Given the description of an element on the screen output the (x, y) to click on. 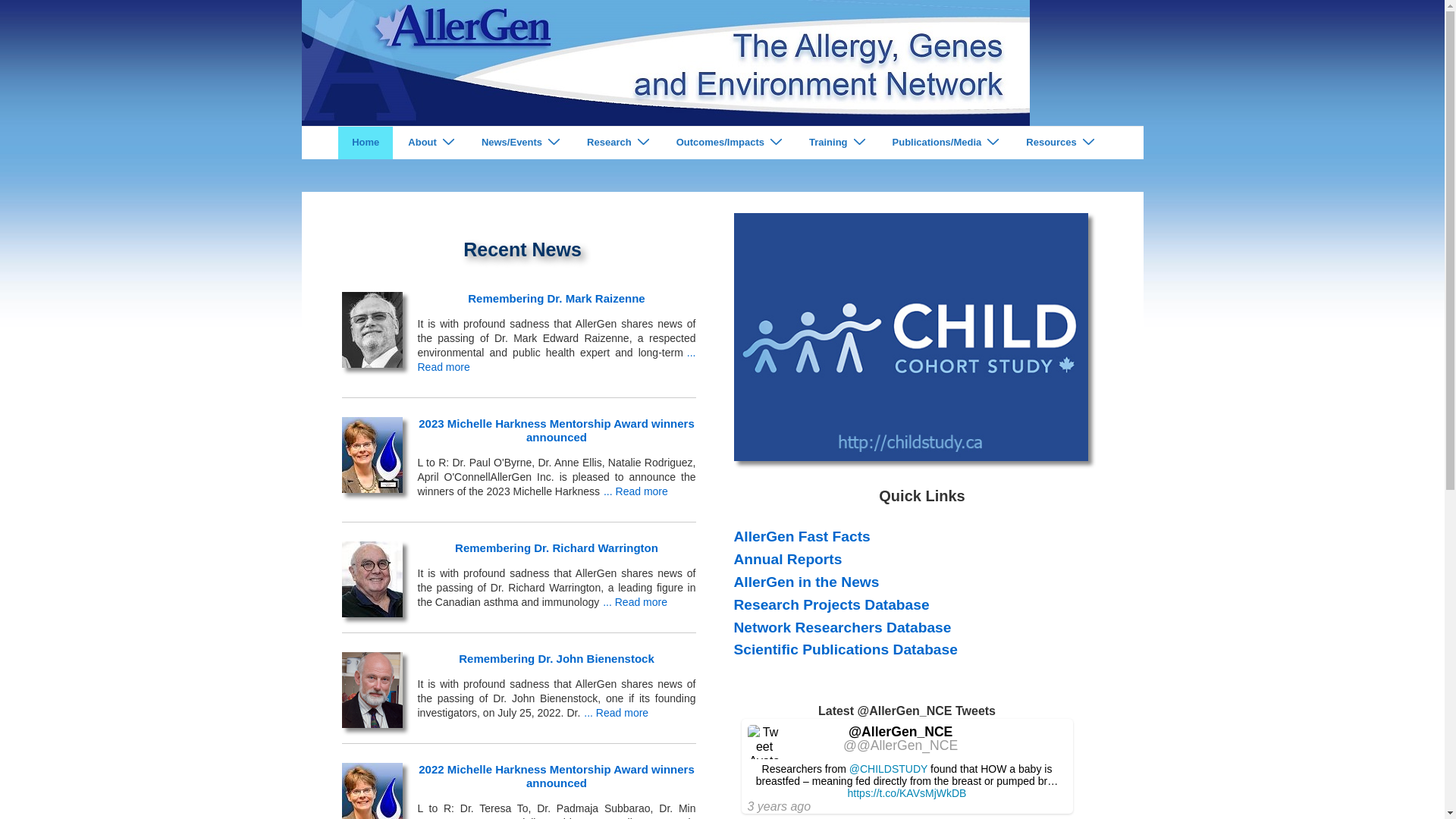
@@AllerGen_NCE Element type: text (900, 745)
Outcomes/Impacts Element type: text (727, 142)
News/Events Element type: text (519, 142)
Network Researchers Database Element type: text (842, 627)
child-website Element type: hover (911, 337)
Remembering Dr. Richard Warrington Element type: text (556, 547)
... Read more Element type: text (634, 602)
2022 Michelle Harkness Mentorship Award winners announced Element type: text (555, 775)
Publications/Media Element type: text (944, 142)
... Read more Element type: text (556, 359)
AllerGen in the News Element type: text (806, 581)
@CHILDSTUDY Element type: text (888, 768)
About Element type: text (430, 142)
2023 Michelle Harkness Mentorship Award winners announced Element type: text (555, 430)
https://t.co/KAVsMjWkDB Element type: text (906, 793)
Remembering Dr. Mark Raizenne Element type: text (555, 297)
... Read more Element type: text (635, 491)
2023 Michelle Harkness Mentorship Award winners announced Element type: hover (371, 450)
Remembering Dr. John Bienenstock Element type: hover (371, 685)
AllerGen Fast Facts Element type: text (802, 536)
Home Element type: text (365, 142)
Research Projects Database Element type: text (831, 604)
Scientific Publications Database Element type: text (845, 649)
Resources Element type: text (1058, 142)
... Read more Element type: text (615, 712)
Research Element type: text (617, 142)
Remembering Dr. John Bienenstock Element type: text (556, 658)
Remembering Dr. Richard Warrington Element type: hover (371, 575)
3 years ago Element type: text (779, 806)
Remembering Dr. Mark Raizenne Element type: hover (371, 325)
Annual Reports Element type: text (788, 559)
Training Element type: text (836, 142)
